Given the description of an element on the screen output the (x, y) to click on. 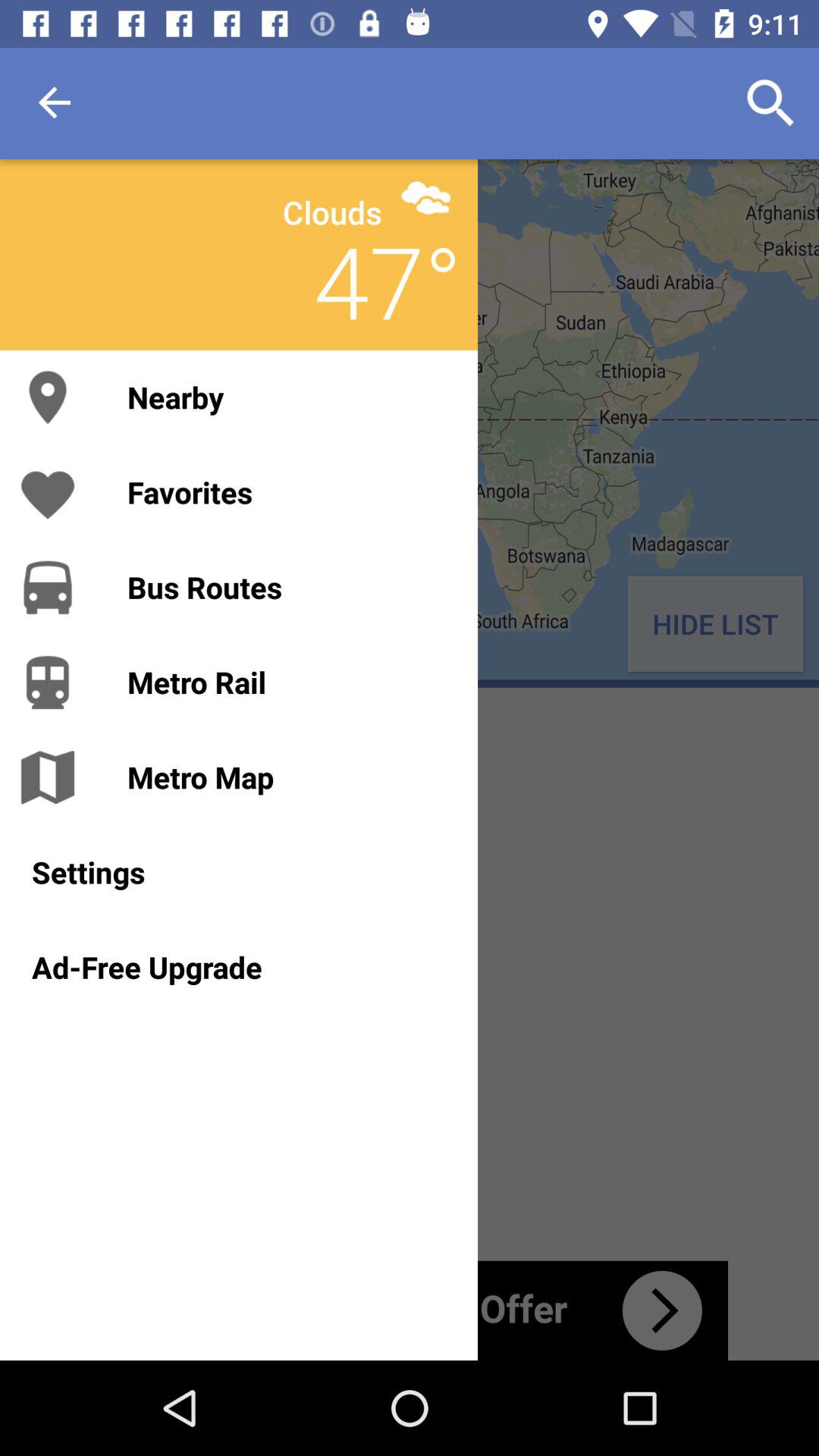
launch item to the right of clouds icon (425, 197)
